Given the description of an element on the screen output the (x, y) to click on. 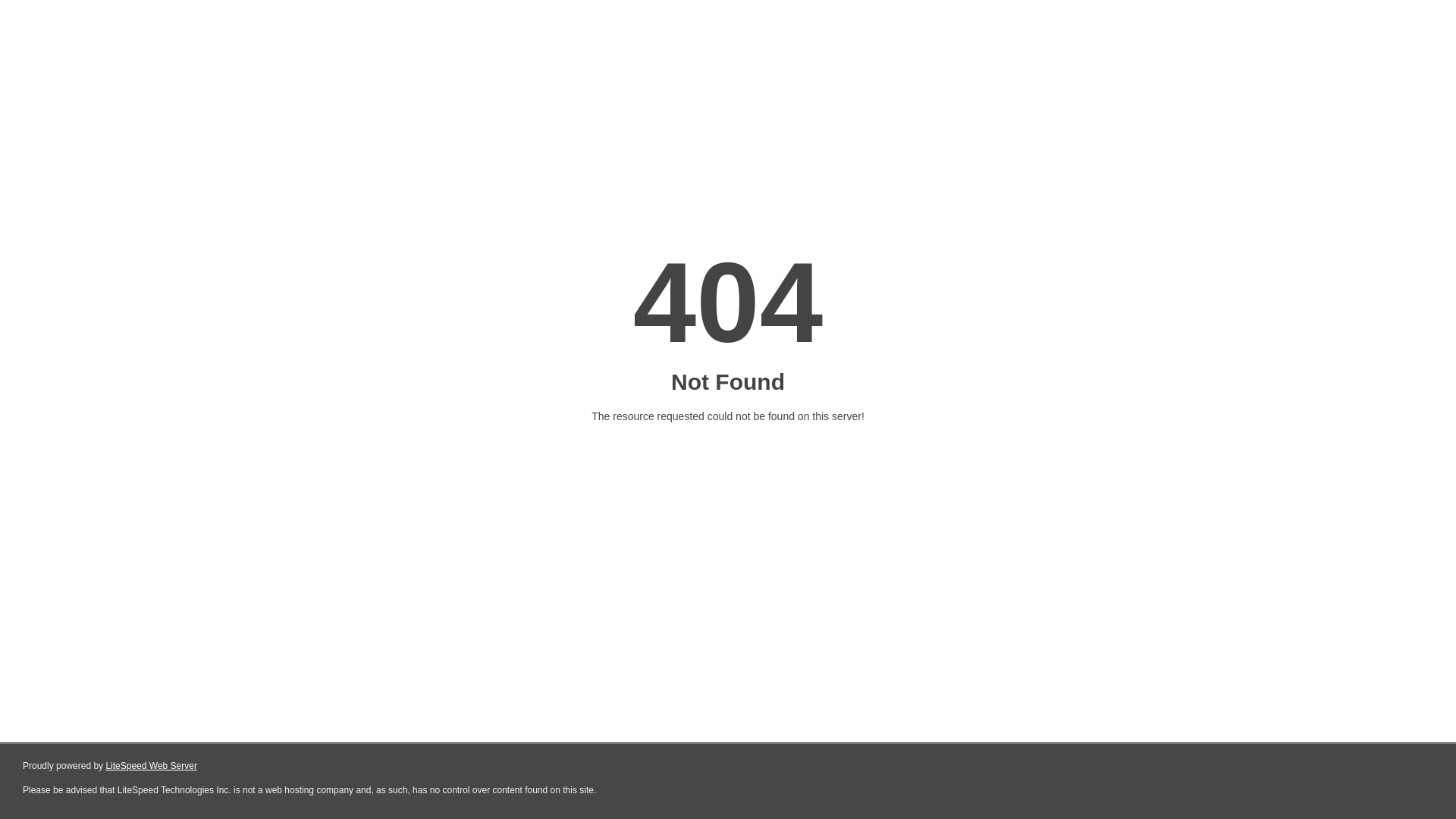
LiteSpeed Web Server Element type: text (151, 765)
